Given the description of an element on the screen output the (x, y) to click on. 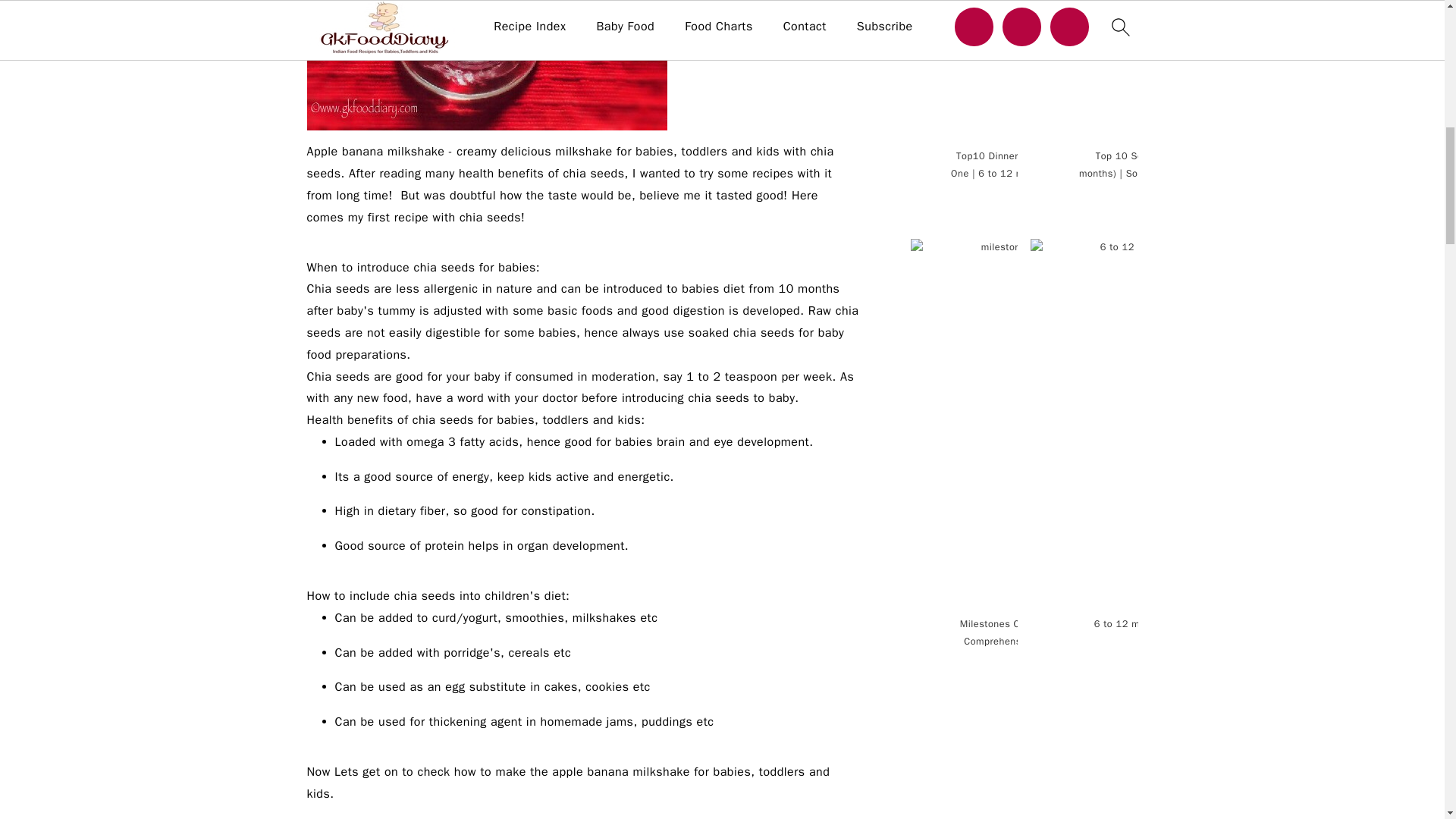
Apple Banana Milkshake Recipe (485, 65)
